Given the description of an element on the screen output the (x, y) to click on. 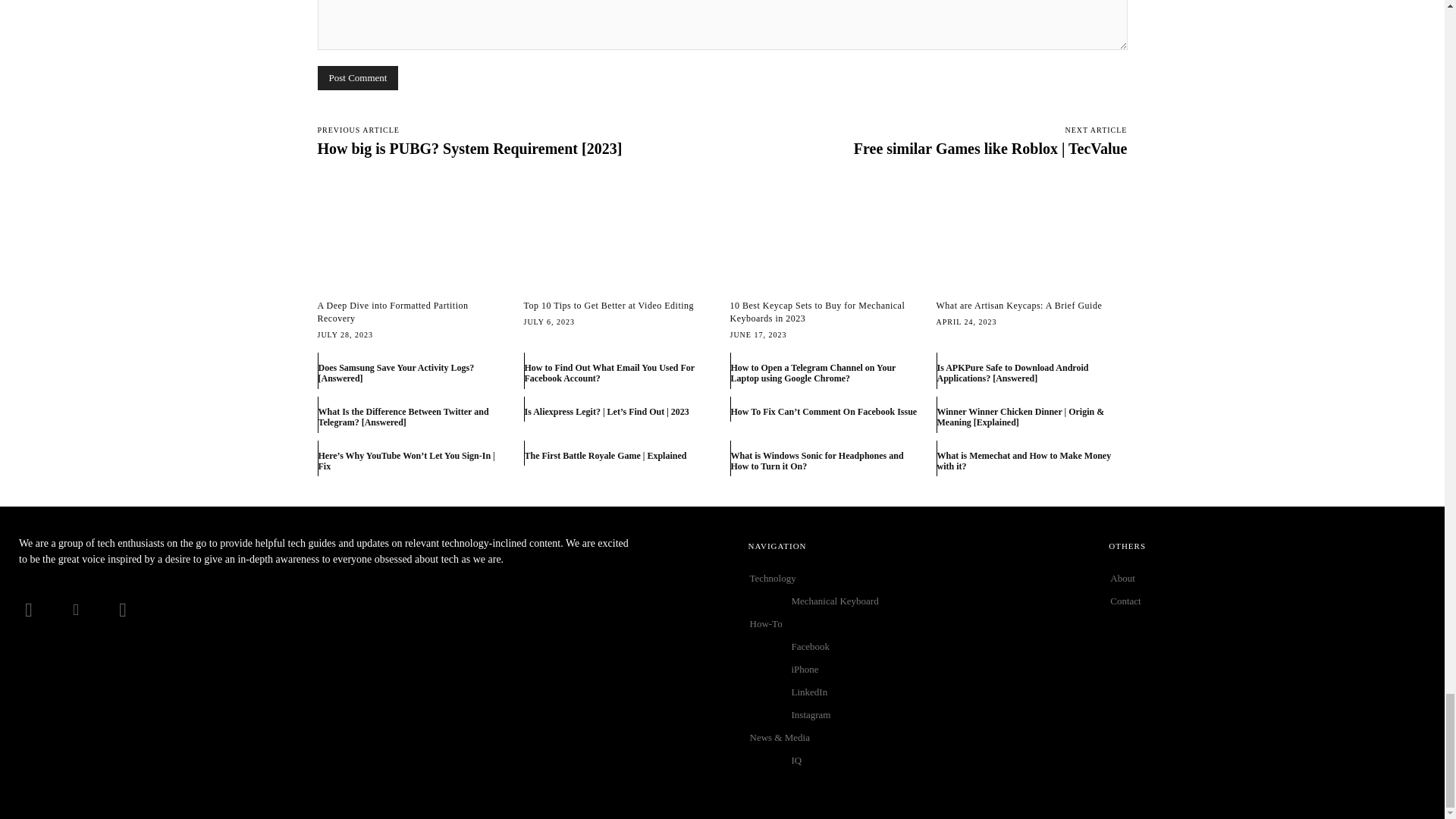
Post Comment (357, 78)
